Given the description of an element on the screen output the (x, y) to click on. 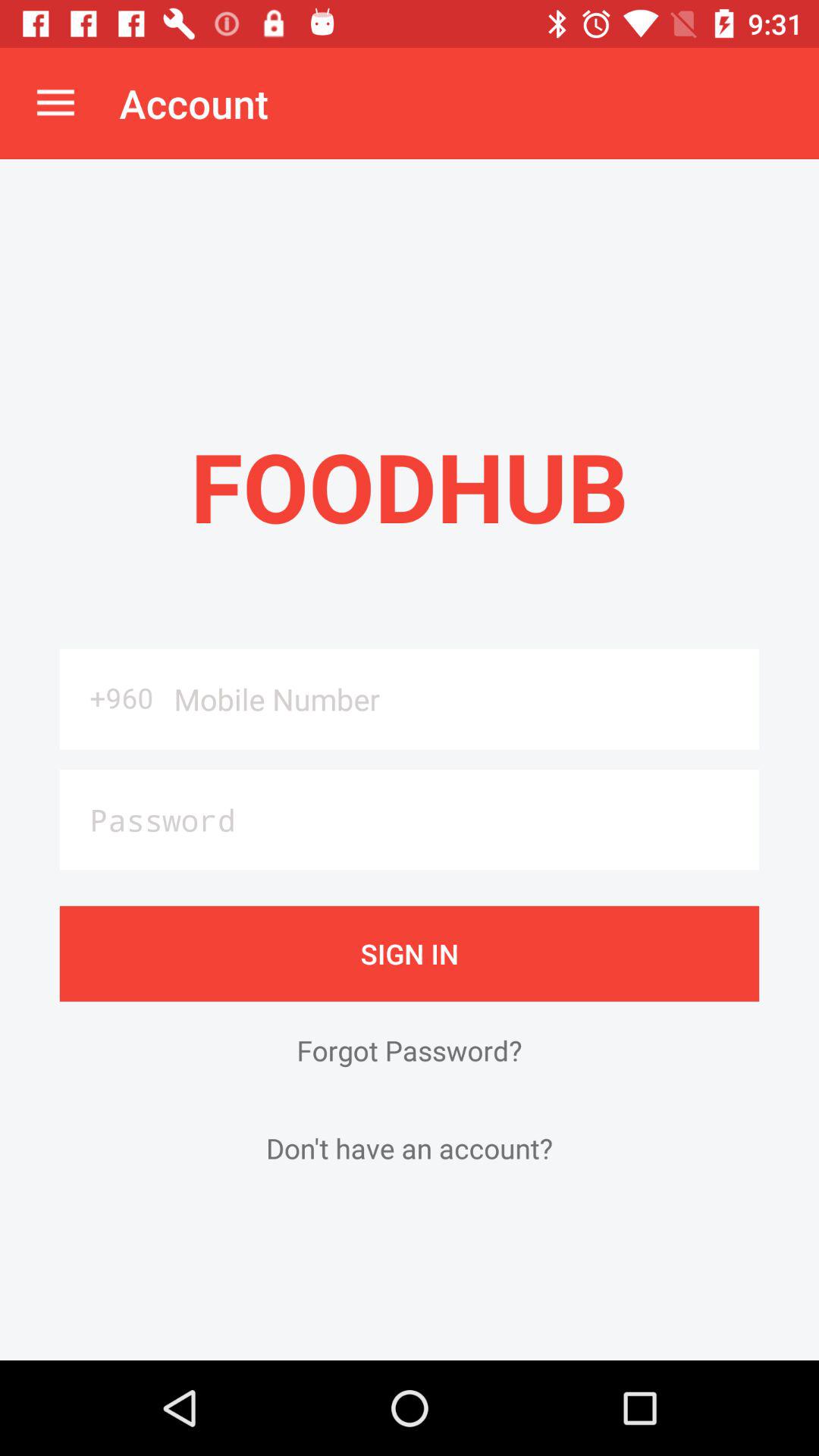
launch item above the don t have (409, 1050)
